Given the description of an element on the screen output the (x, y) to click on. 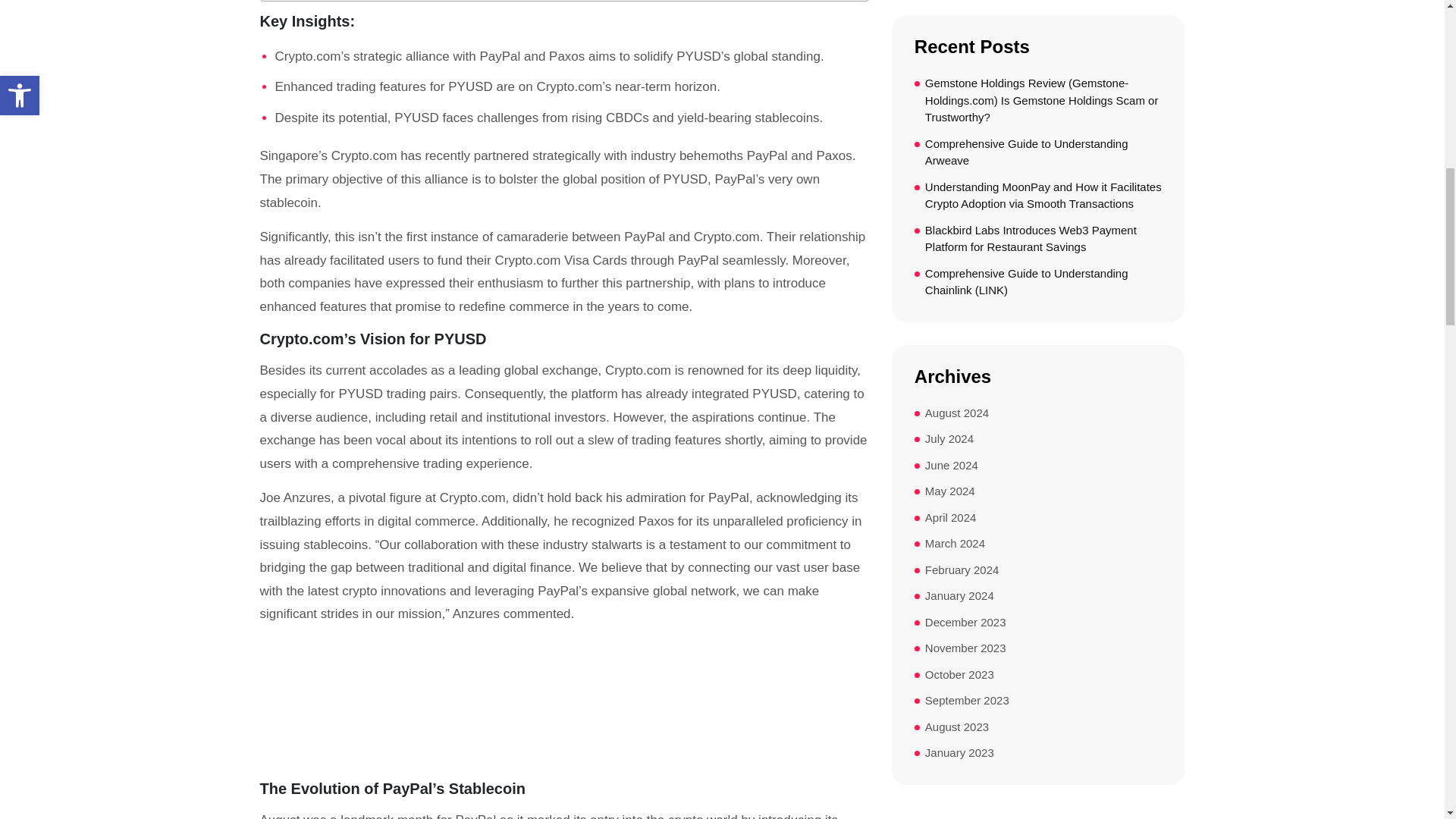
March 2024 (954, 543)
May 2024 (949, 491)
July 2024 (949, 438)
August 2024 (956, 413)
June 2024 (951, 466)
April 2024 (950, 518)
Comprehensive Guide to Understanding Arweave (1042, 152)
